Given the description of an element on the screen output the (x, y) to click on. 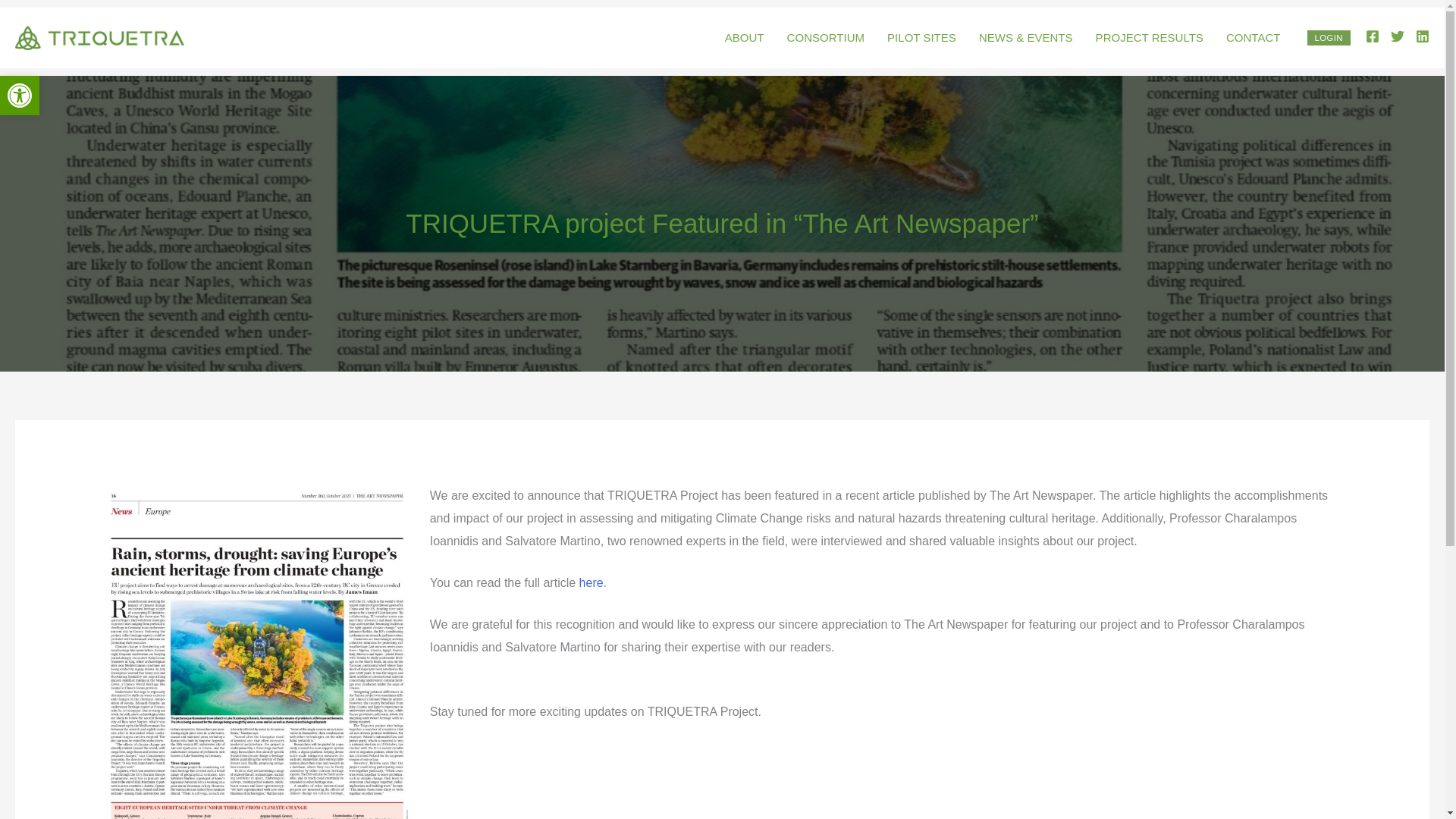
here (591, 582)
Skip to content (19, 95)
Readable Font (1329, 37)
